Given the description of an element on the screen output the (x, y) to click on. 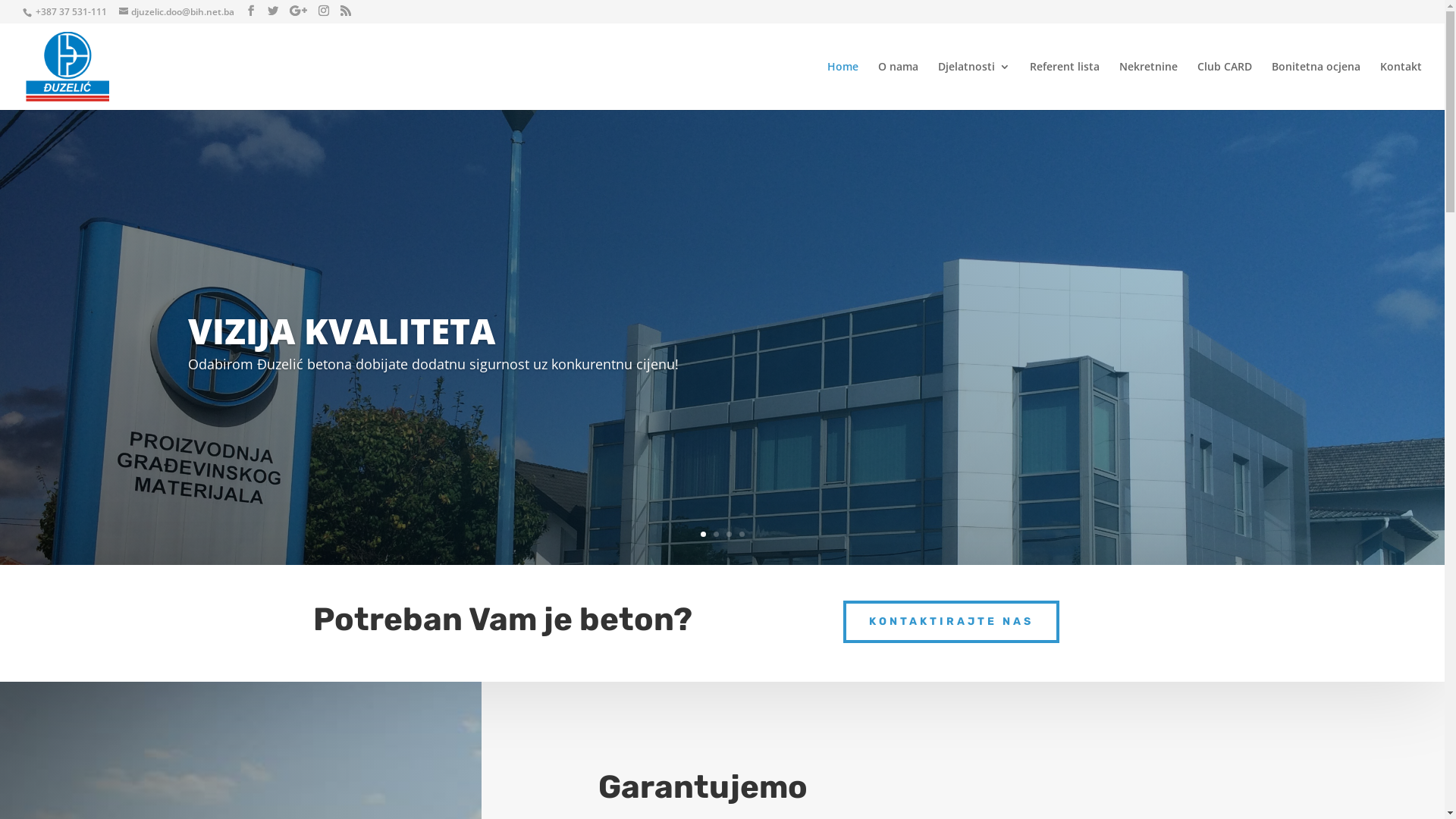
Nekretnine Element type: text (1148, 85)
Djelatnosti Element type: text (974, 85)
3 Element type: text (728, 533)
Referent lista Element type: text (1064, 85)
djuzelic.doo@bih.net.ba Element type: text (176, 11)
1 Element type: text (703, 533)
Home Element type: text (842, 85)
KONTAKTIRAJTE NAS Element type: text (951, 621)
4 Element type: text (740, 533)
Kontakt Element type: text (1400, 85)
2 Element type: text (715, 533)
Club CARD Element type: text (1224, 85)
Bonitetna ocjena Element type: text (1315, 85)
O nama Element type: text (898, 85)
